Given the description of an element on the screen output the (x, y) to click on. 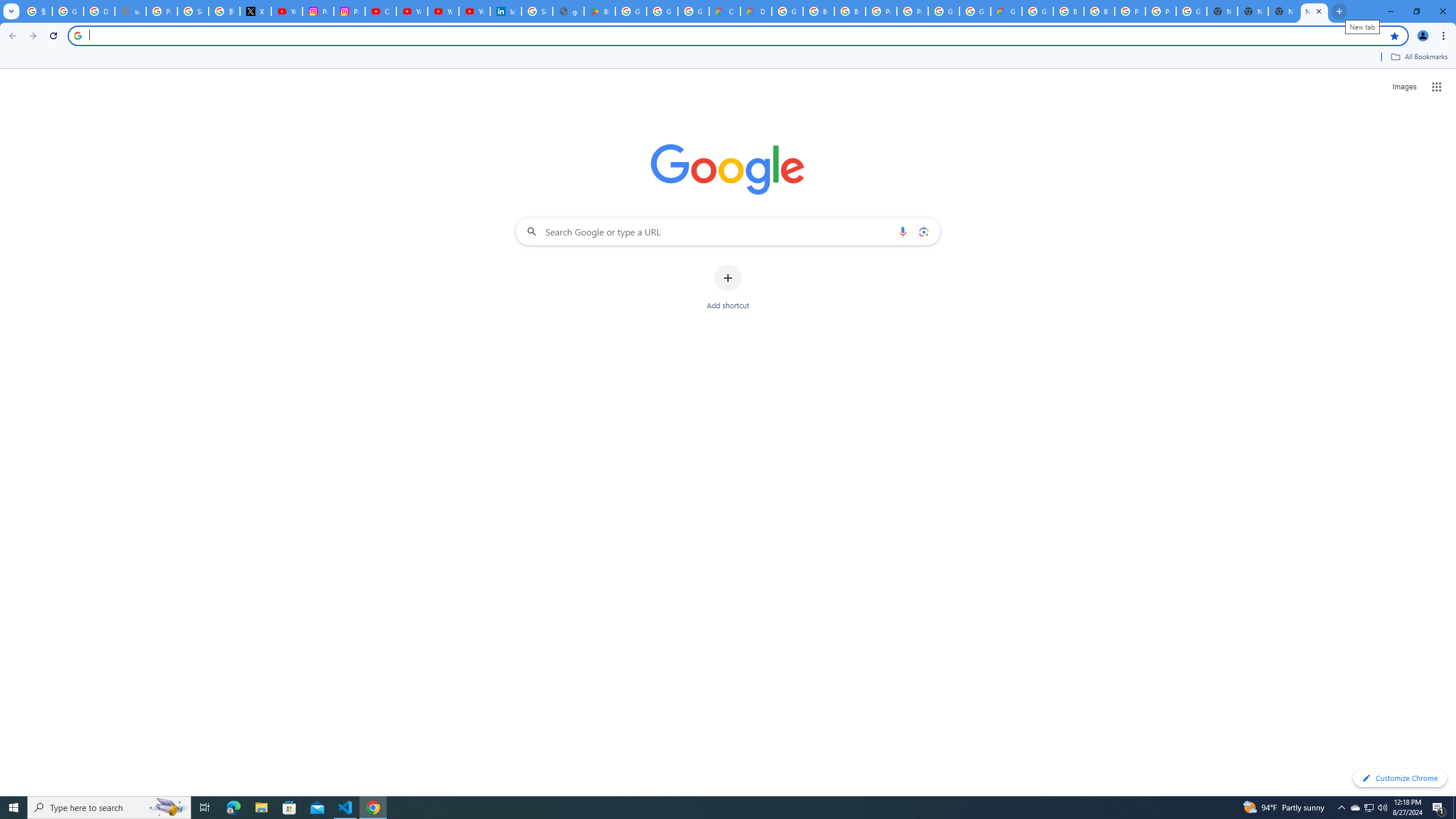
Browse Chrome as a guest - Computer - Google Chrome Help (1068, 11)
Sign in - Google Accounts (192, 11)
google_privacy_policy_en.pdf (568, 11)
Privacy Help Center - Policies Help (161, 11)
support.google.com - Network error (130, 11)
